Given the description of an element on the screen output the (x, y) to click on. 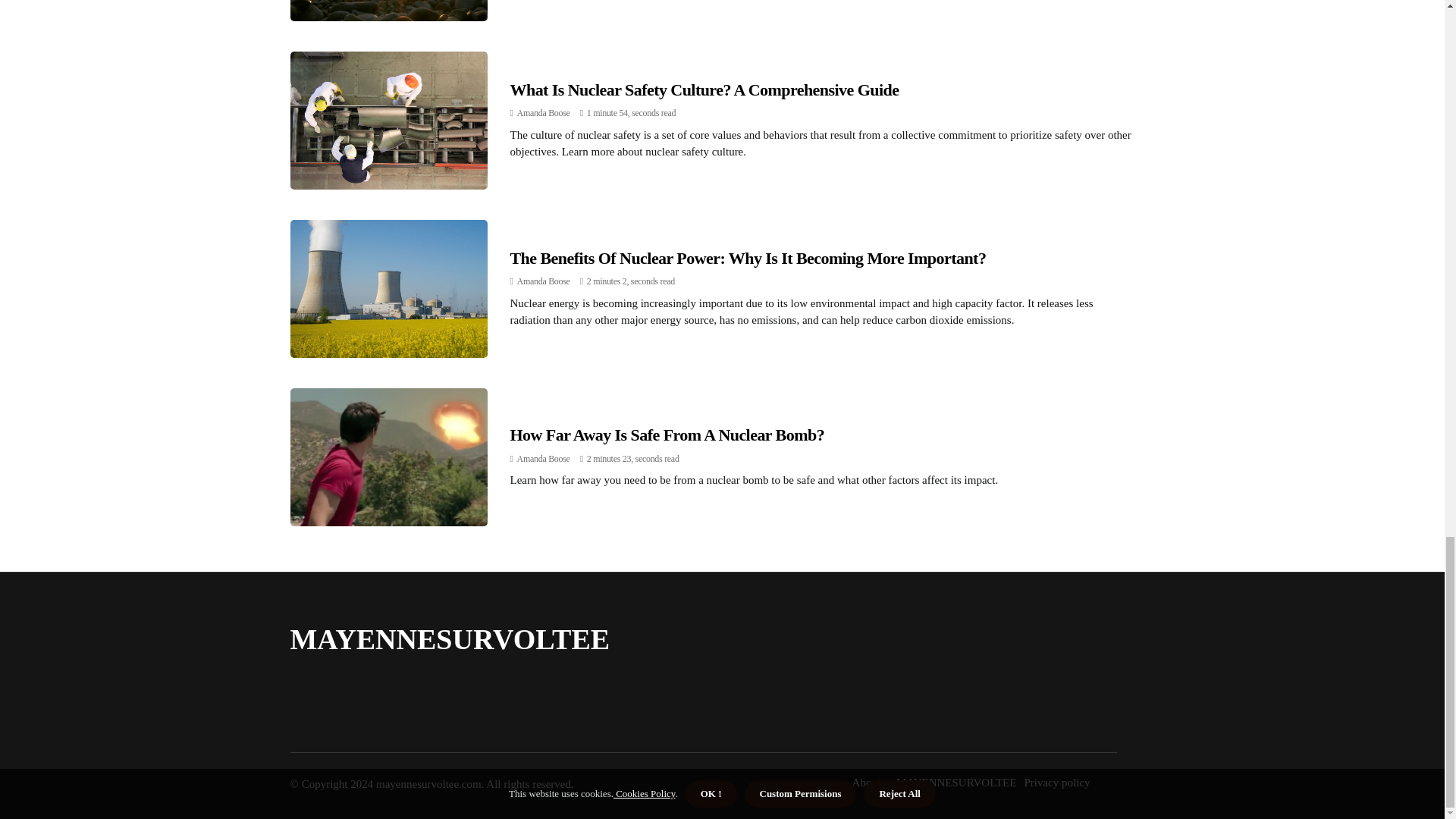
Amanda Boose (543, 281)
How Far Away Is Safe From A Nuclear Bomb? (666, 434)
Amanda Boose (543, 112)
Amanda Boose (543, 458)
Posts by Amanda Boose (543, 458)
Posts by Amanda Boose (543, 281)
What Is Nuclear Safety Culture? A Comprehensive Guide (703, 89)
Posts by Amanda Boose (543, 112)
